Given the description of an element on the screen output the (x, y) to click on. 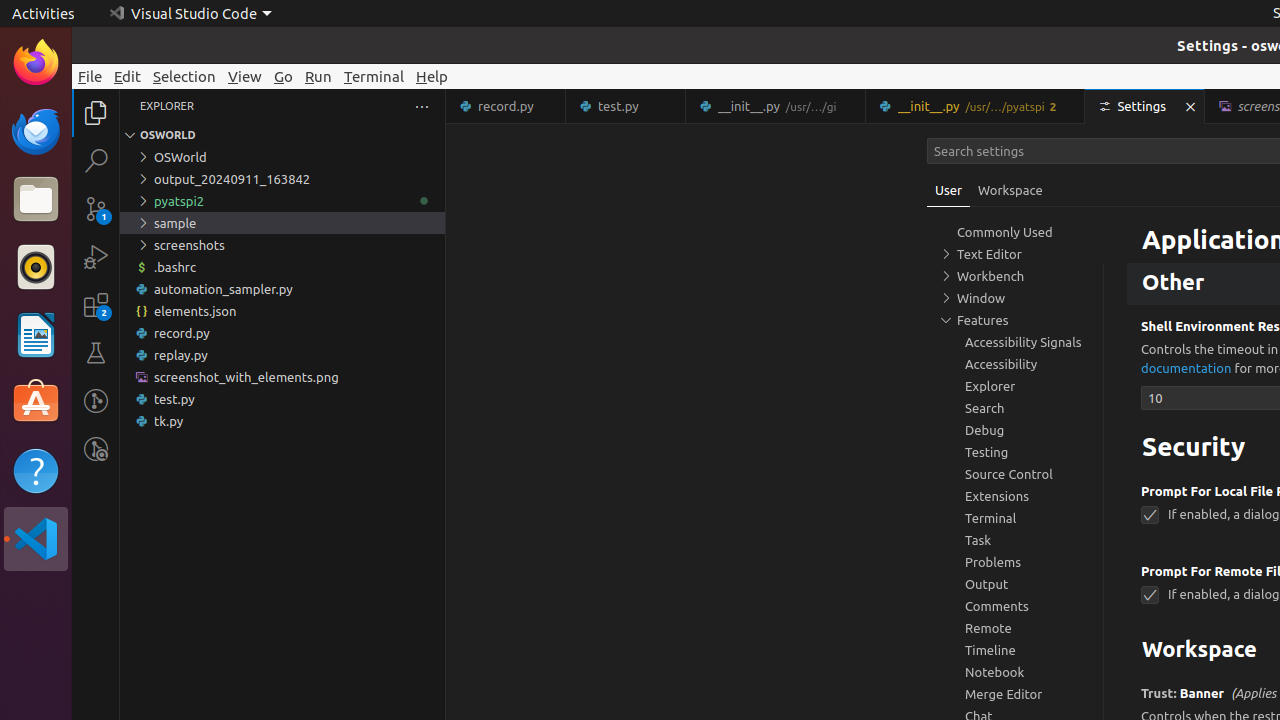
Extensions (Ctrl+Shift+X) - 2 require restart Extensions (Ctrl+Shift+X) - 2 require restart Element type: page-tab (96, 305)
Explorer Section: osworld Element type: push-button (282, 135)
Firefox Web Browser Element type: push-button (36, 63)
Timeline, group Element type: tree-item (1015, 650)
